Given the description of an element on the screen output the (x, y) to click on. 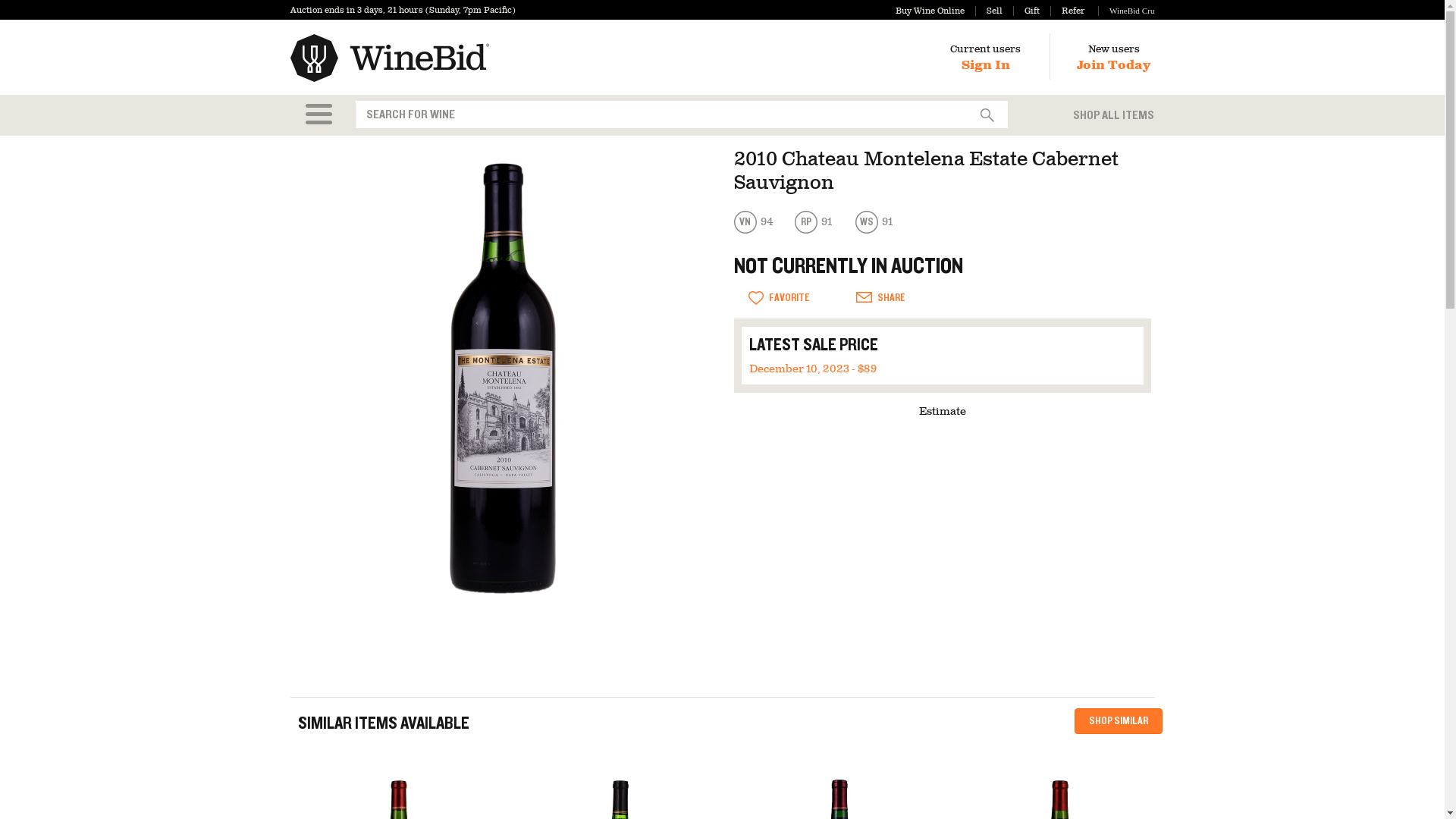
Sign In (985, 64)
WineBid Cru (1125, 10)
Buy Wine Online (929, 10)
Sell (989, 10)
Gift (1026, 10)
Refer (1066, 10)
Join Today (1113, 64)
